Given the description of an element on the screen output the (x, y) to click on. 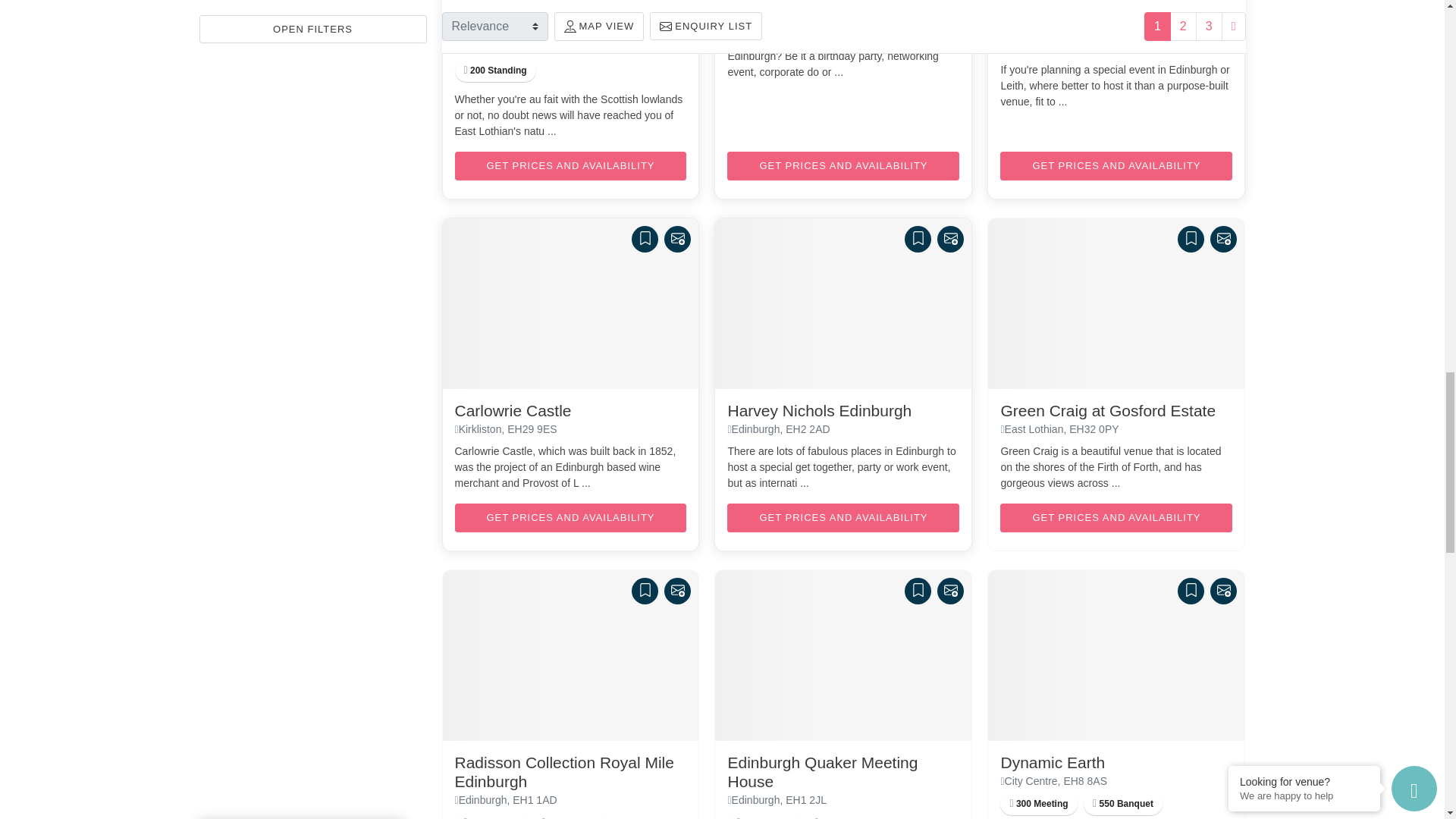
OPEN FILTERS (312, 2)
3rd party ad content (312, 99)
